Given the description of an element on the screen output the (x, y) to click on. 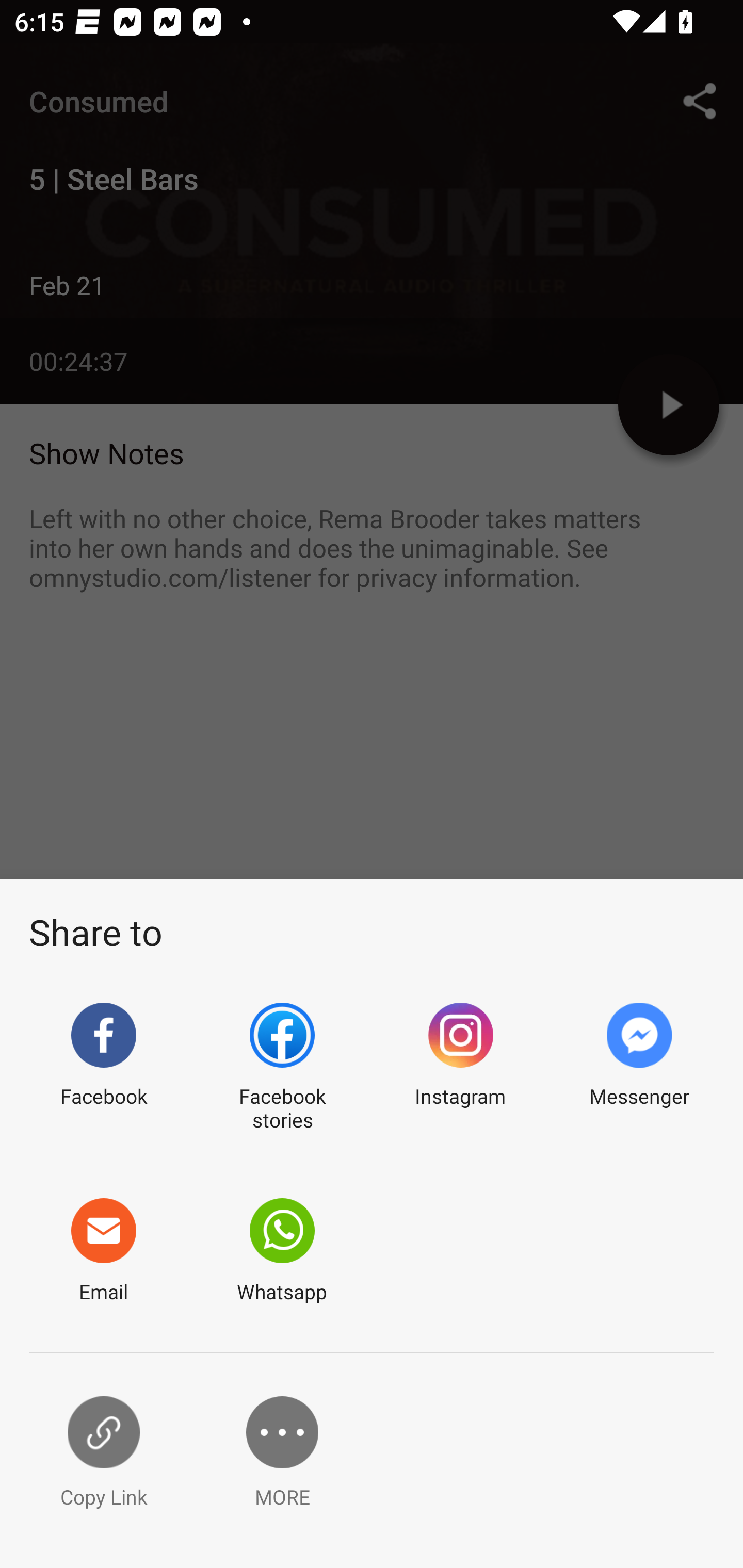
Facebook (103, 1067)
Facebook stories (282, 1067)
Instagram (460, 1067)
Messenger (638, 1067)
Email (103, 1251)
Whatsapp (282, 1251)
Copy Link (103, 1453)
MORE (282, 1453)
